Given the description of an element on the screen output the (x, y) to click on. 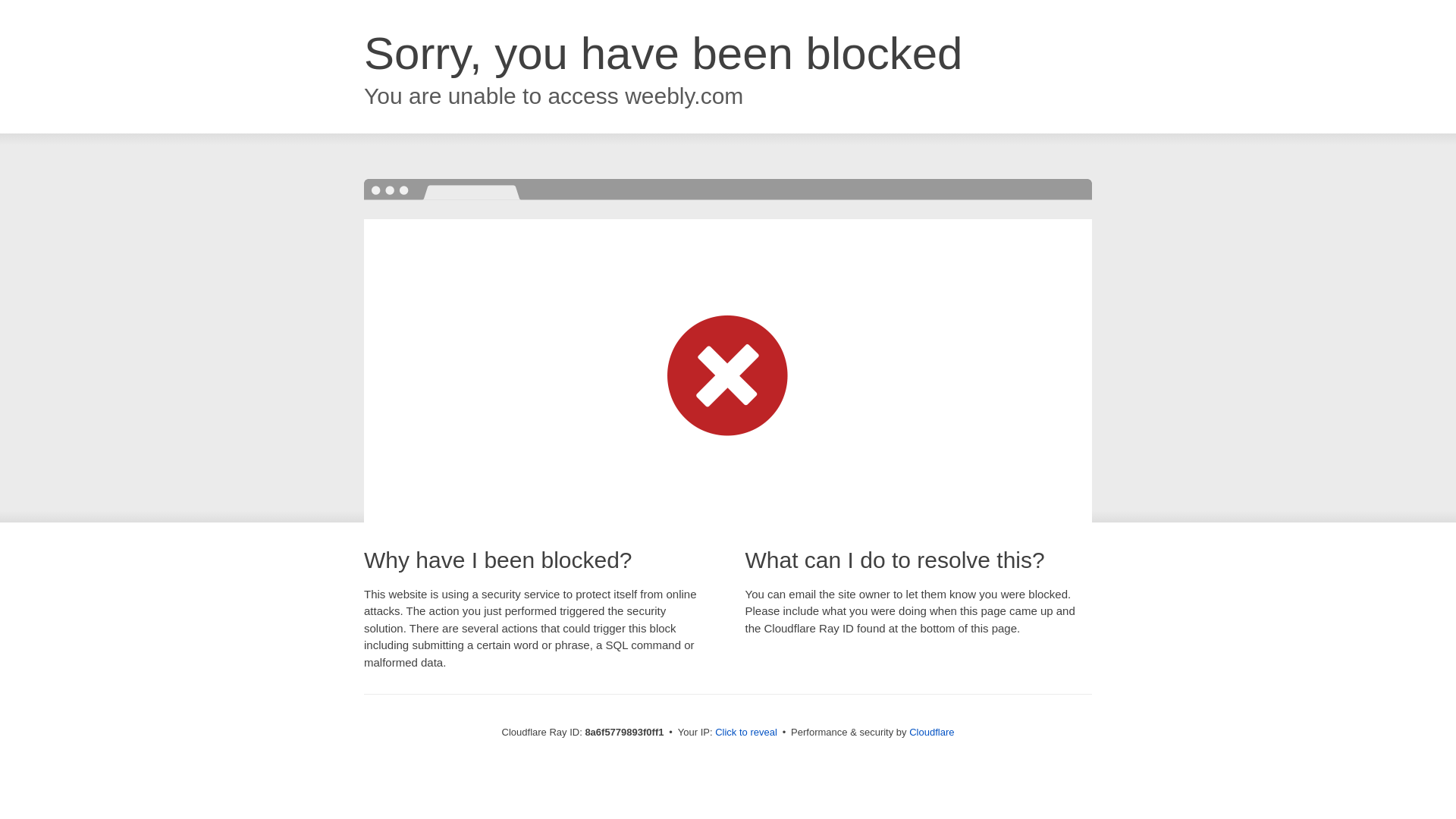
Click to reveal (745, 732)
Cloudflare (930, 731)
